Given the description of an element on the screen output the (x, y) to click on. 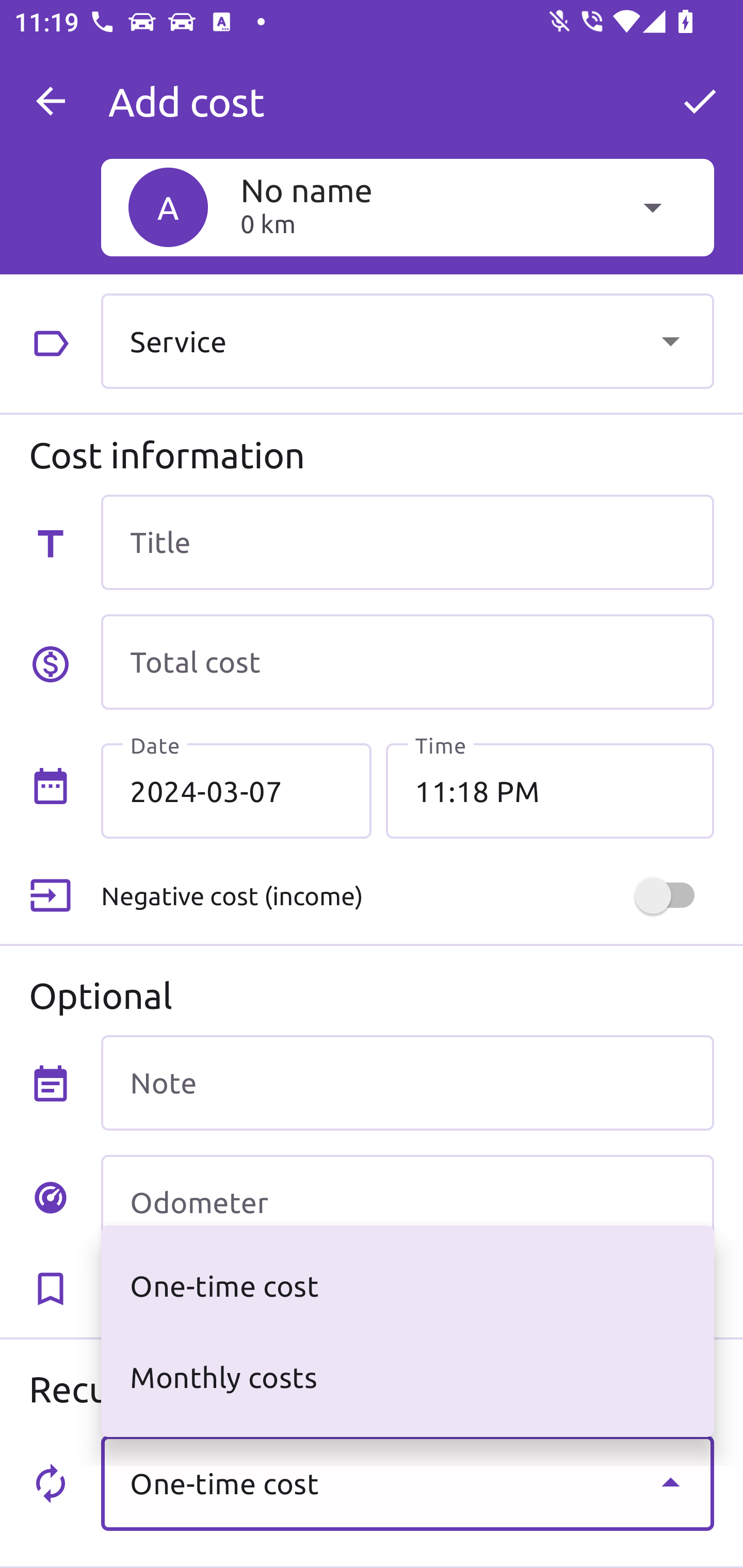
Navigate up (50, 101)
OK (699, 101)
A No name 0 km (407, 206)
Service (407, 340)
Show dropdown menu (670, 340)
Title (407, 541)
Total cost  (407, 662)
2024-03-07 (236, 790)
11:18 PM (549, 790)
Negative cost (income) (407, 895)
Note (407, 1082)
Odometer (407, 1202)
Save as template (407, 1289)
One-time cost (407, 1482)
Show dropdown menu (670, 1482)
